Given the description of an element on the screen output the (x, y) to click on. 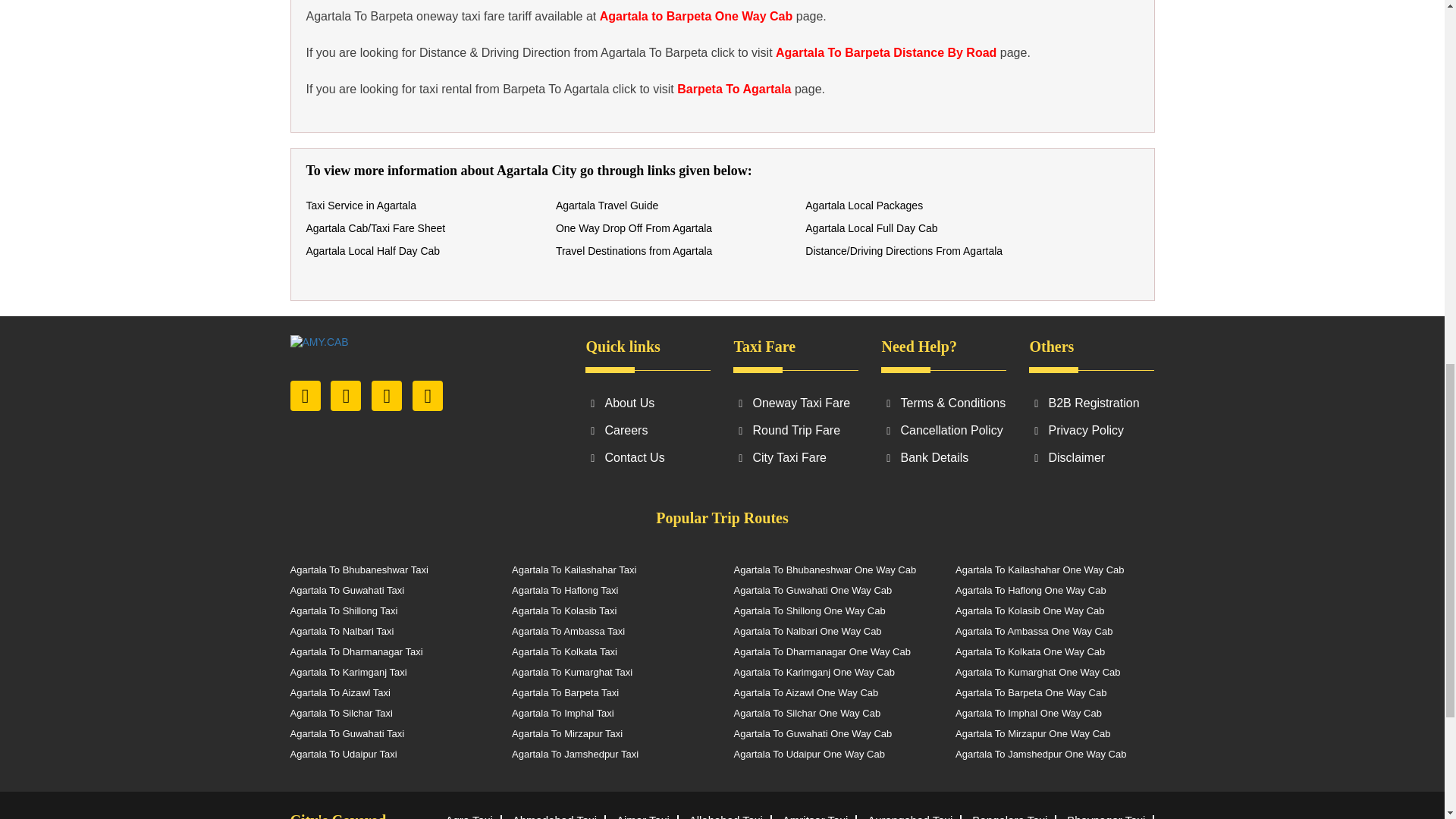
B2B Registration (1093, 402)
Agartala Local Half Day Cab (373, 250)
City Taxi Fare (789, 457)
Contact Us (633, 457)
Oneway Taxi Fare (801, 402)
About Us (628, 402)
Barpeta To Agartala (733, 88)
Cancellation Policy (951, 430)
Taxi Service in Agartala (360, 205)
Agartala To Barpeta Distance By Road (885, 51)
